Given the description of an element on the screen output the (x, y) to click on. 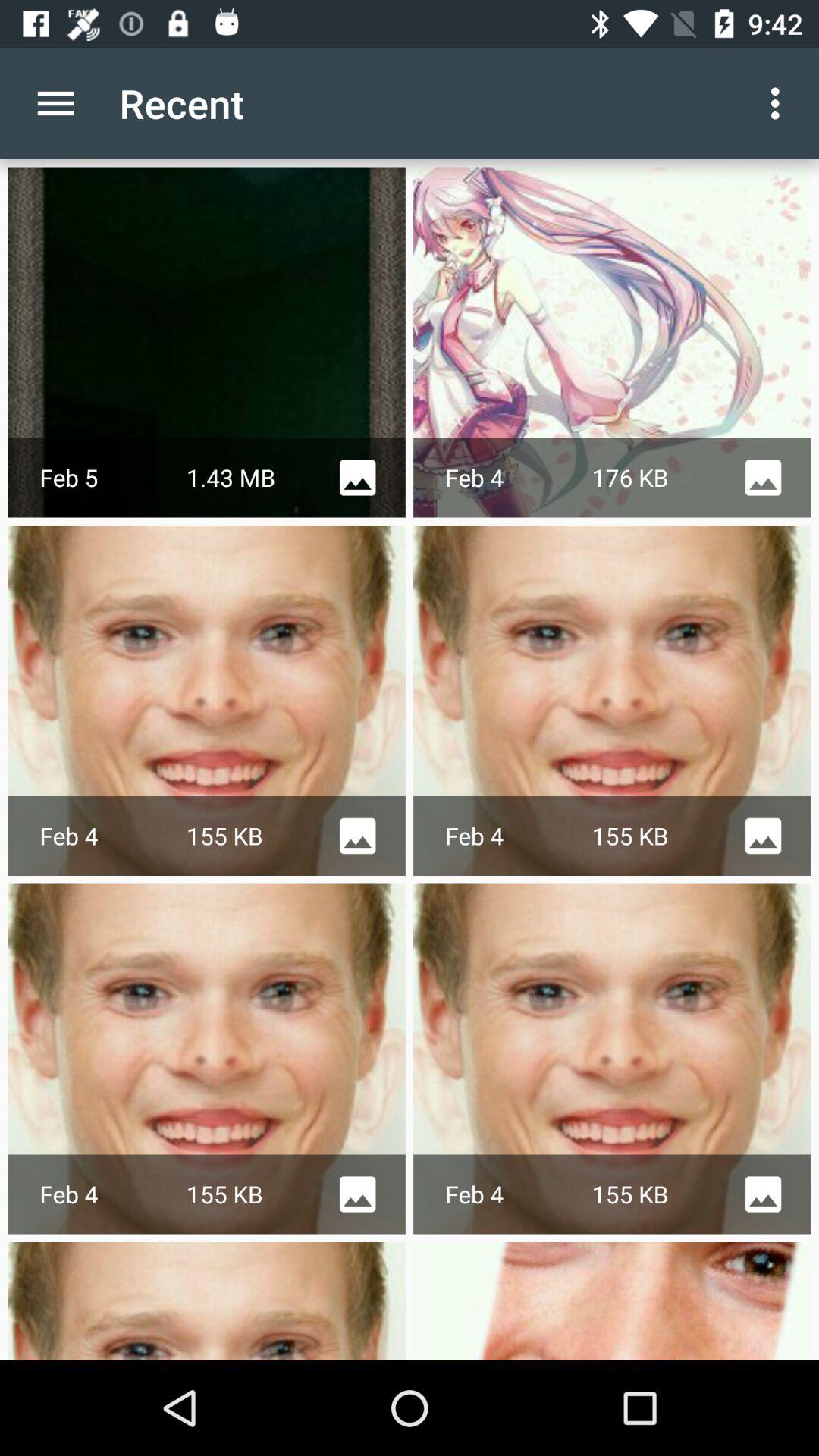
click the app next to the recent (779, 103)
